Given the description of an element on the screen output the (x, y) to click on. 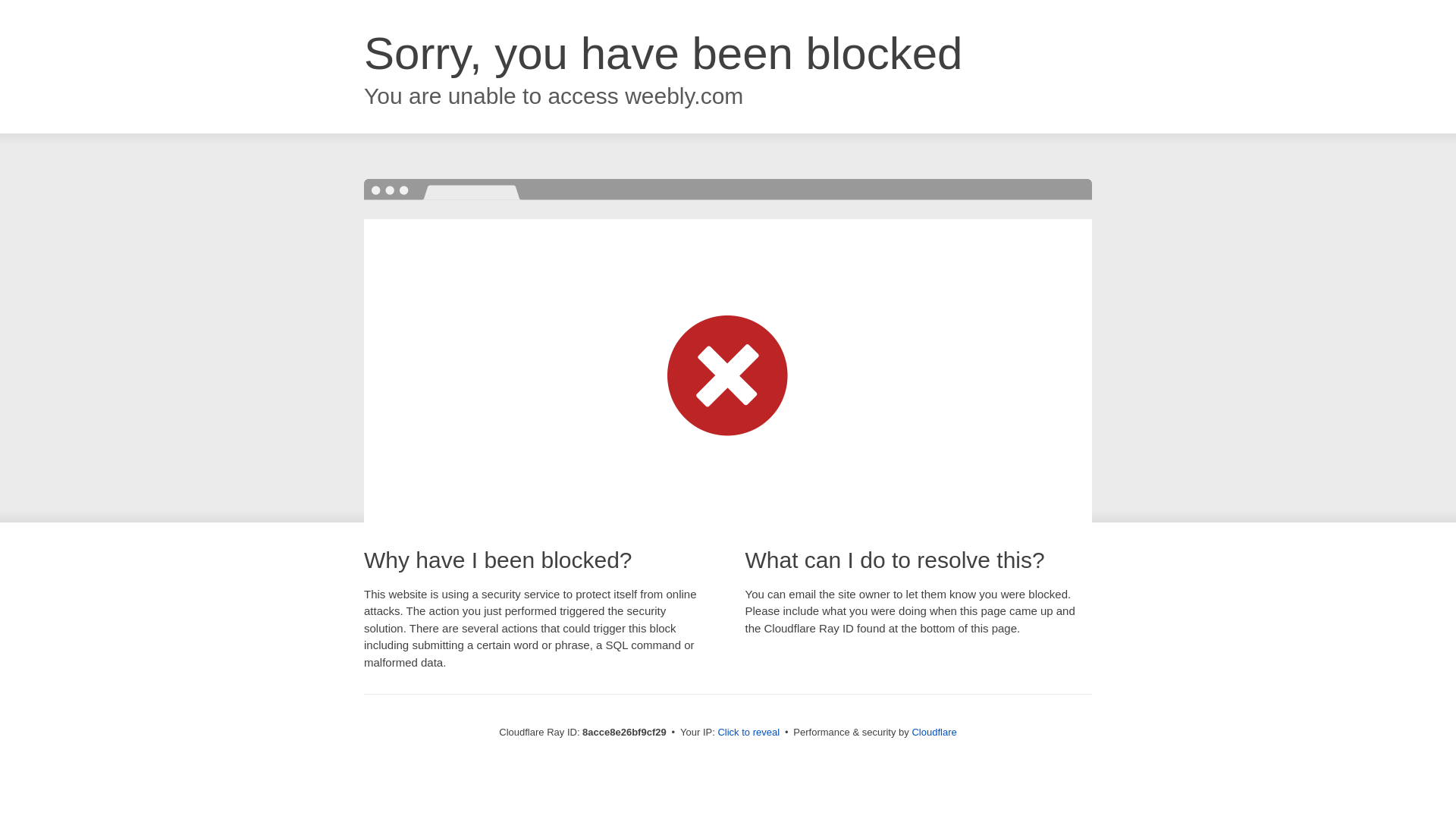
Click to reveal (747, 732)
Cloudflare (933, 731)
